Given the description of an element on the screen output the (x, y) to click on. 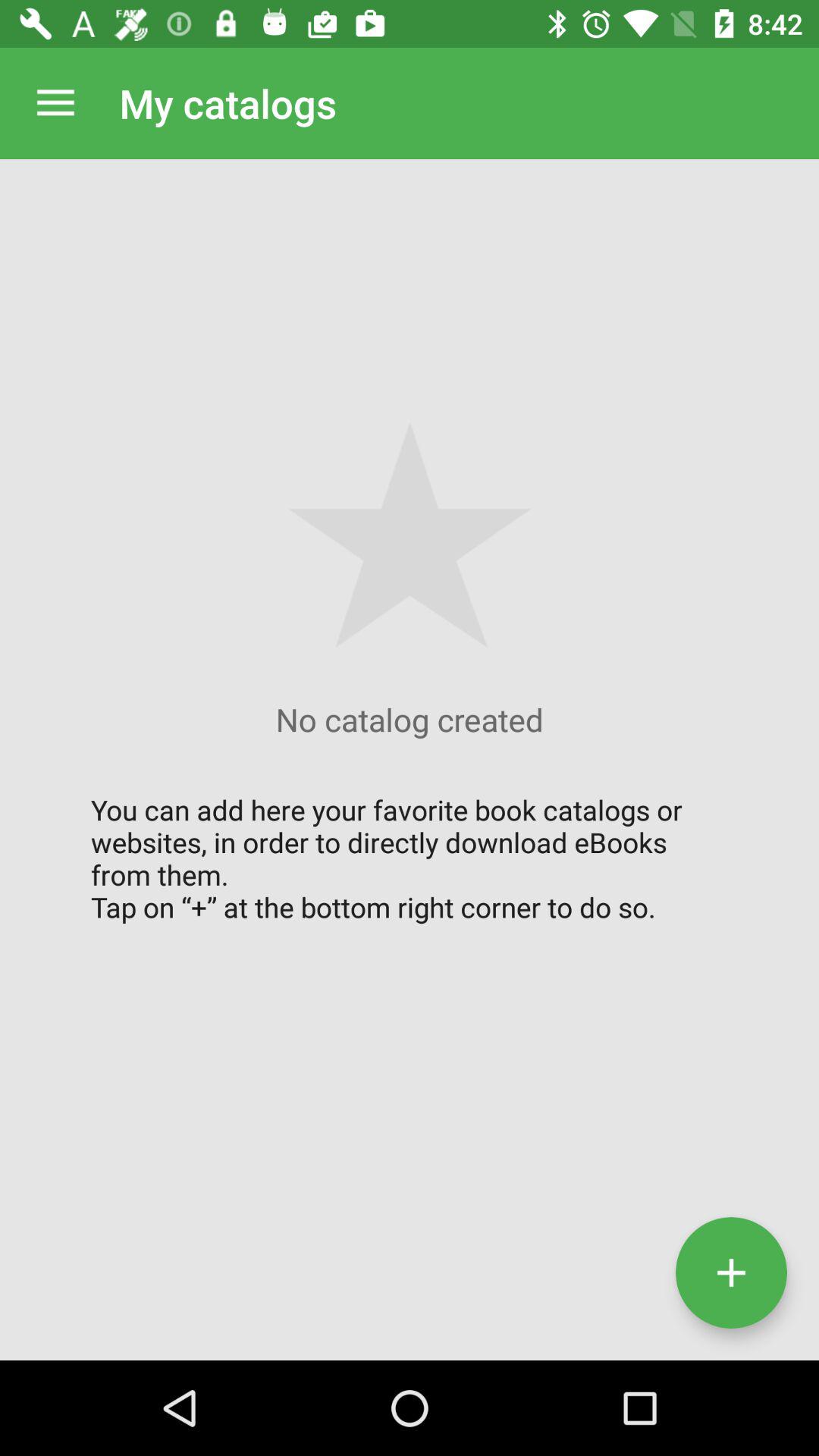
add catalogue (731, 1272)
